Given the description of an element on the screen output the (x, y) to click on. 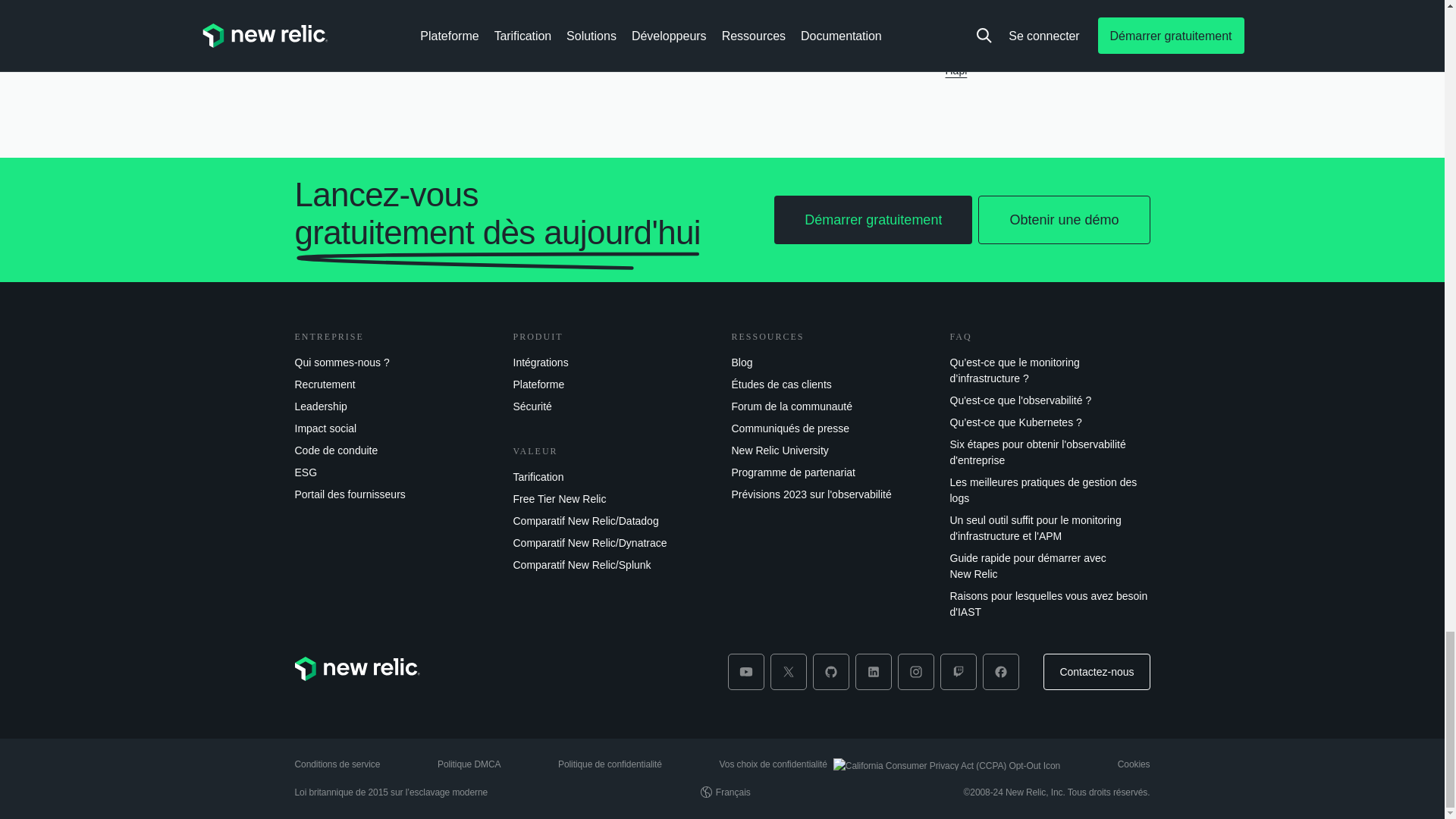
New Relic Logo (356, 668)
